Given the description of an element on the screen output the (x, y) to click on. 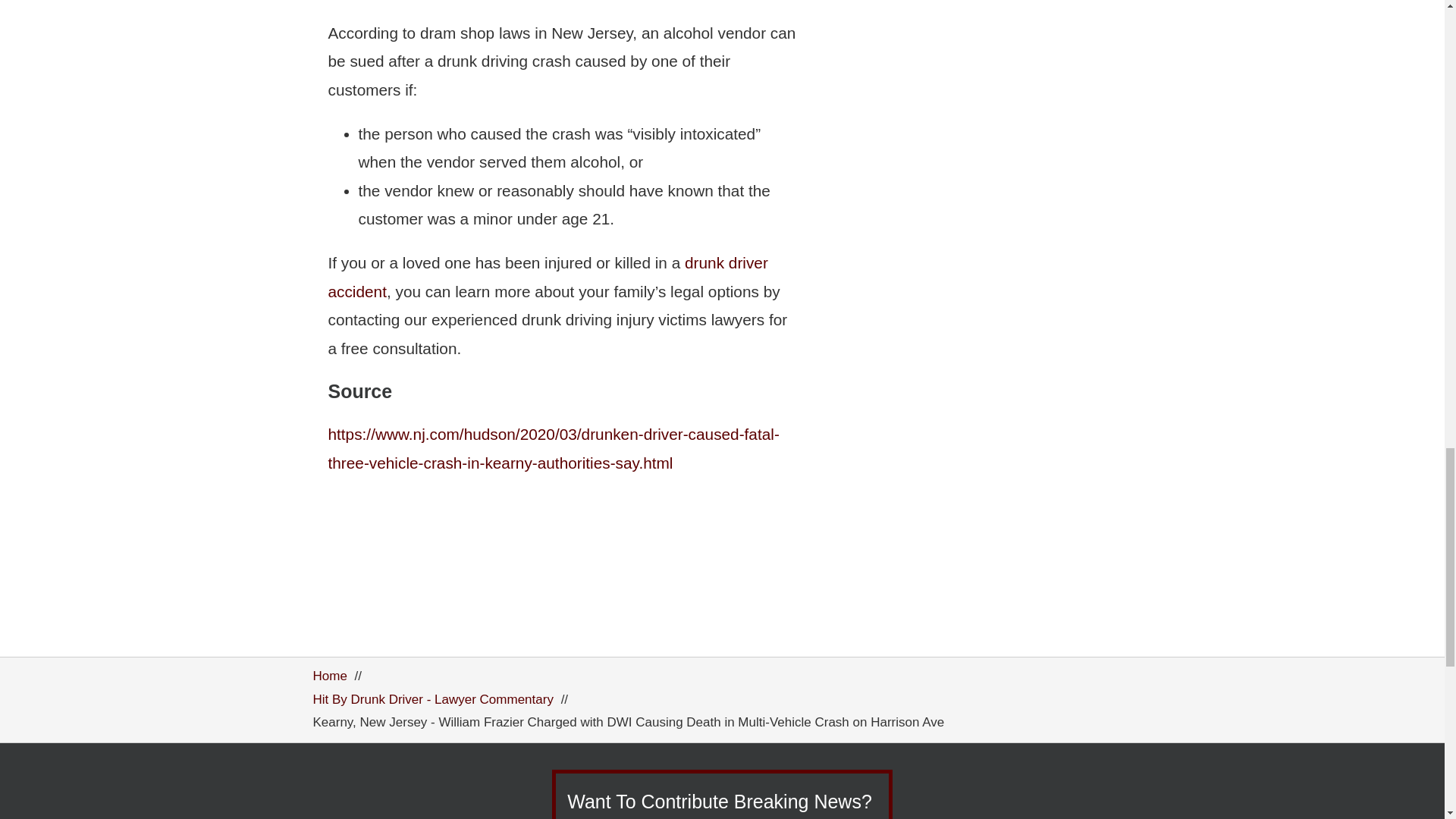
drunk driver accident (547, 276)
Previous (899, 258)
Home (329, 676)
Hit By Drunk Driver - Lawyer Commentary (433, 699)
